Given the description of an element on the screen output the (x, y) to click on. 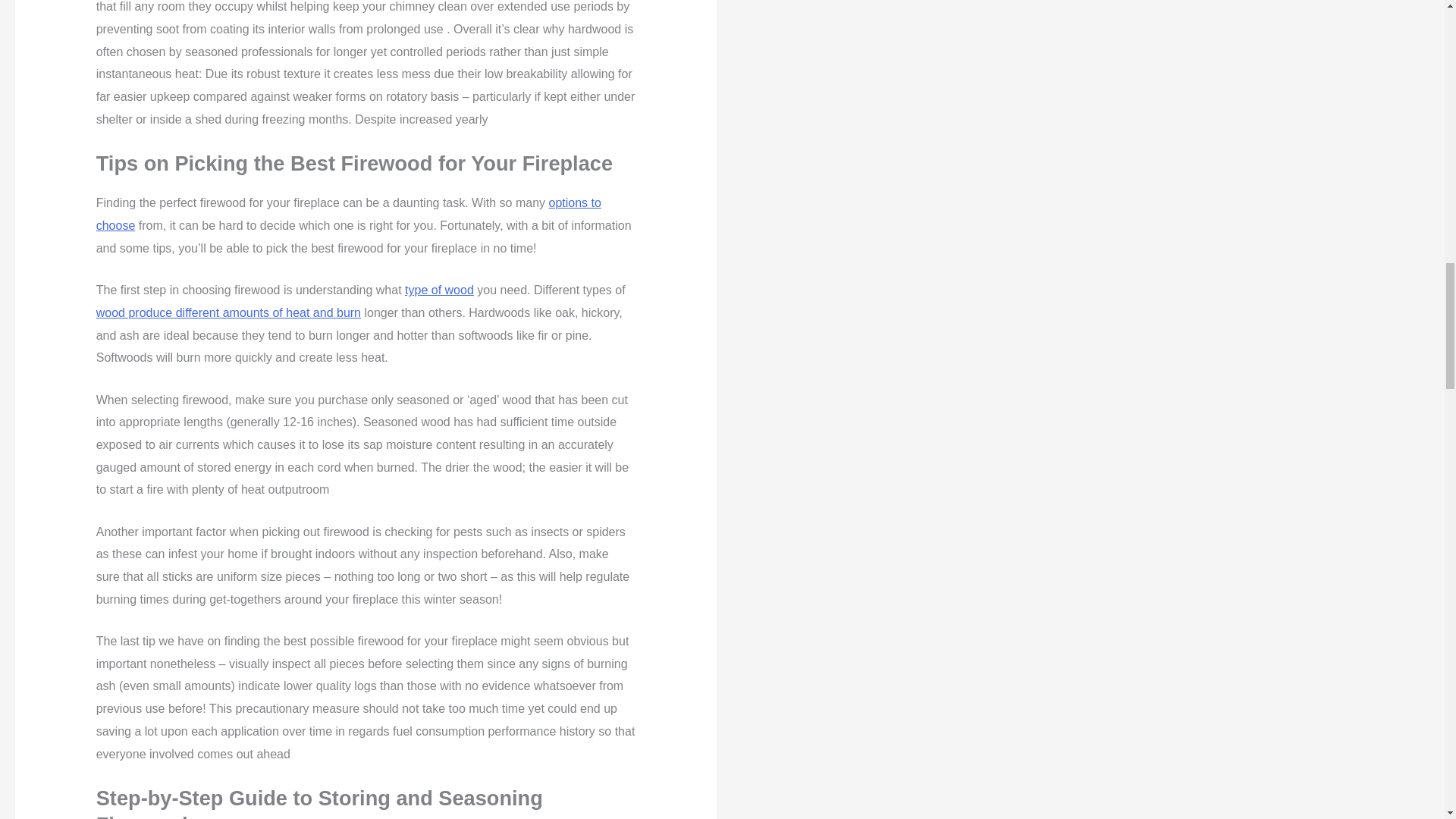
wood produce different amounts of heat and burn (228, 312)
options to choose (348, 213)
type of wood (439, 289)
